Given the description of an element on the screen output the (x, y) to click on. 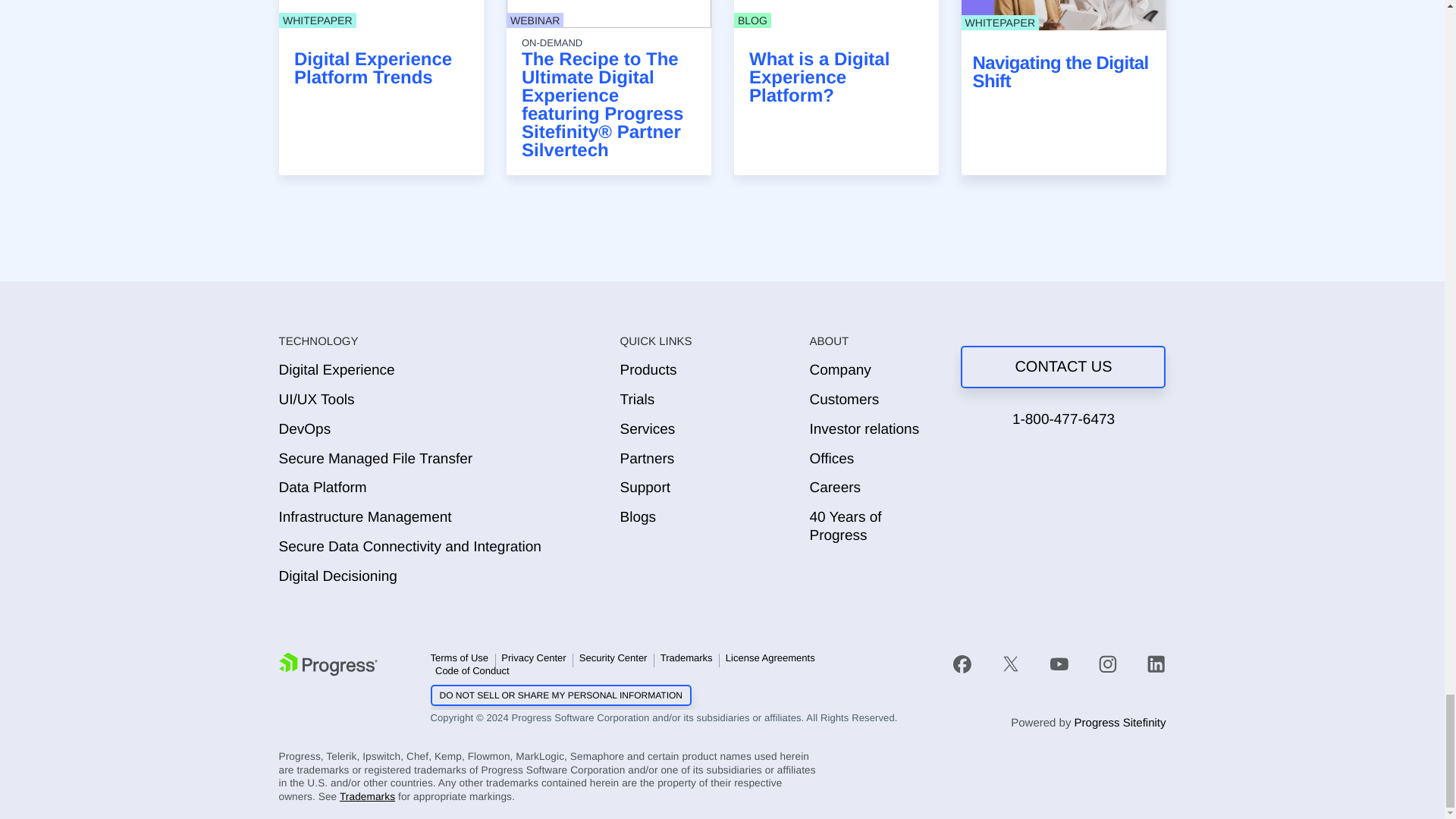
youtube (1059, 662)
Facebook (962, 664)
instagram (1107, 662)
X (1011, 662)
YouTube (1058, 664)
Progress (328, 663)
Instagram (1107, 664)
LinkedIn (1156, 664)
X (1010, 664)
facebook (970, 662)
